Given the description of an element on the screen output the (x, y) to click on. 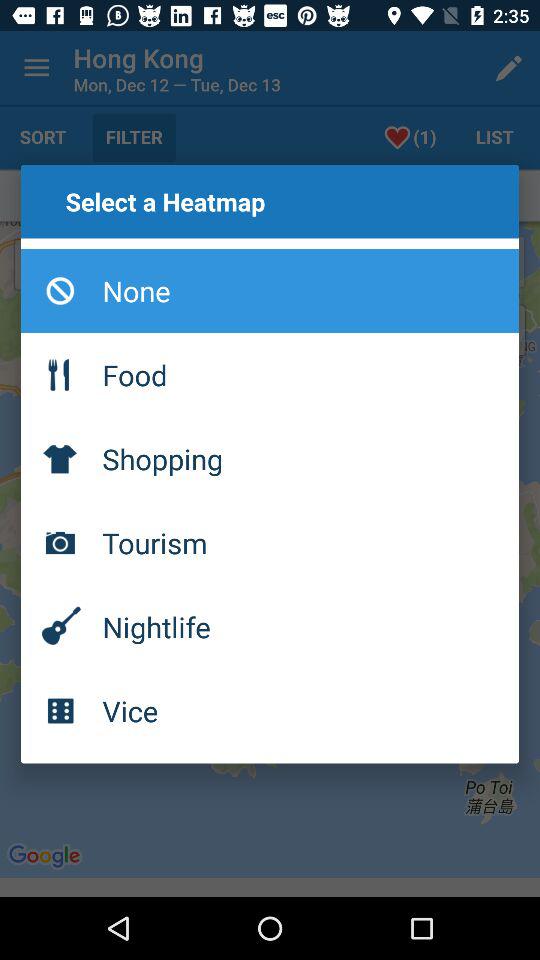
launch the icon above the vice (270, 626)
